Given the description of an element on the screen output the (x, y) to click on. 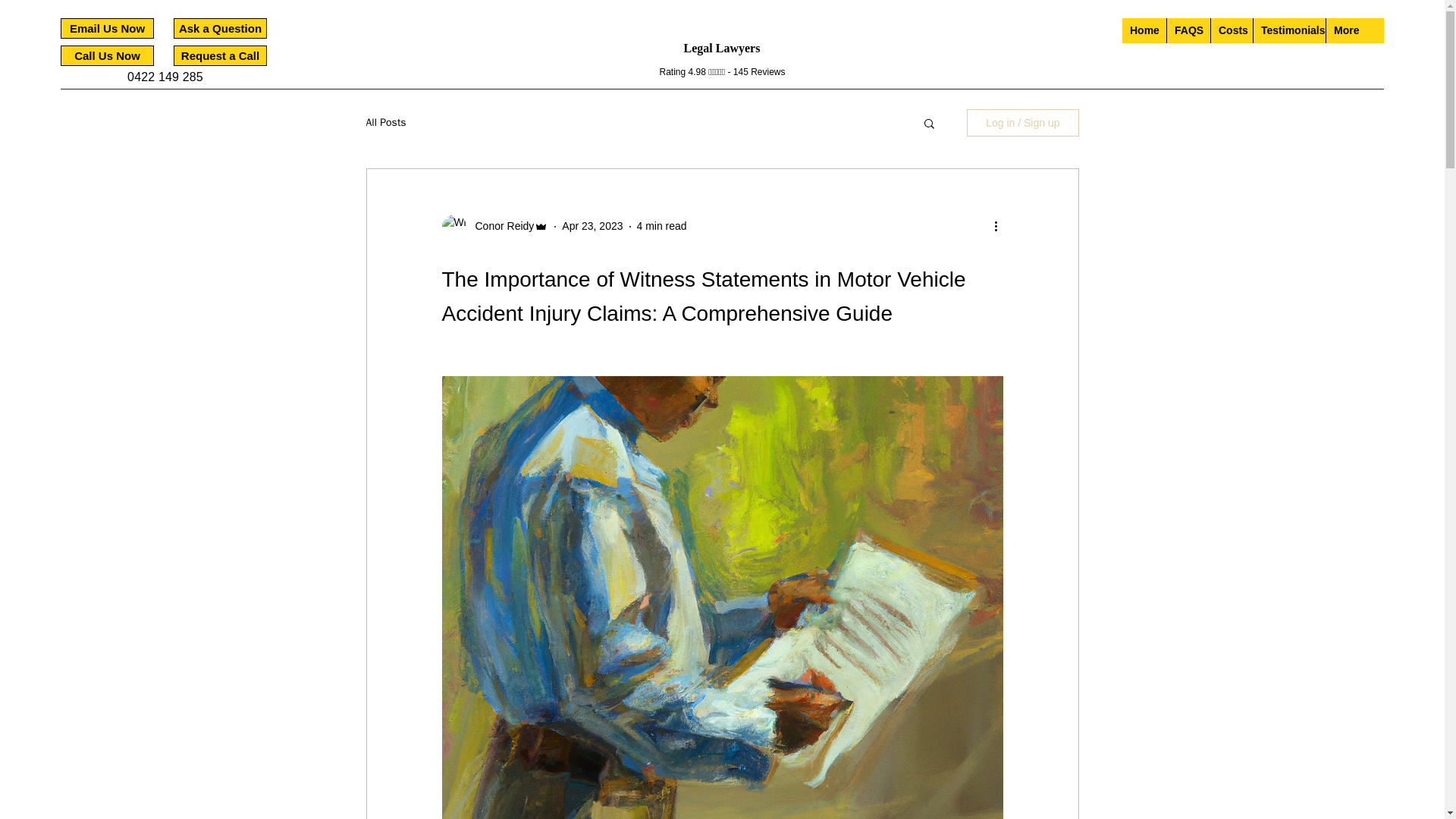
Call Us Now (107, 55)
All Posts (385, 122)
Testimonials (1288, 30)
Apr 23, 2023 (592, 225)
Conor Reidy (499, 226)
Home (1144, 30)
FAQS (1187, 30)
Ask a Question (219, 28)
Email Us Now (107, 28)
 0422 149 285  (164, 76)
Costs (1230, 30)
Request a Call (219, 55)
4 min read (662, 225)
